Given the description of an element on the screen output the (x, y) to click on. 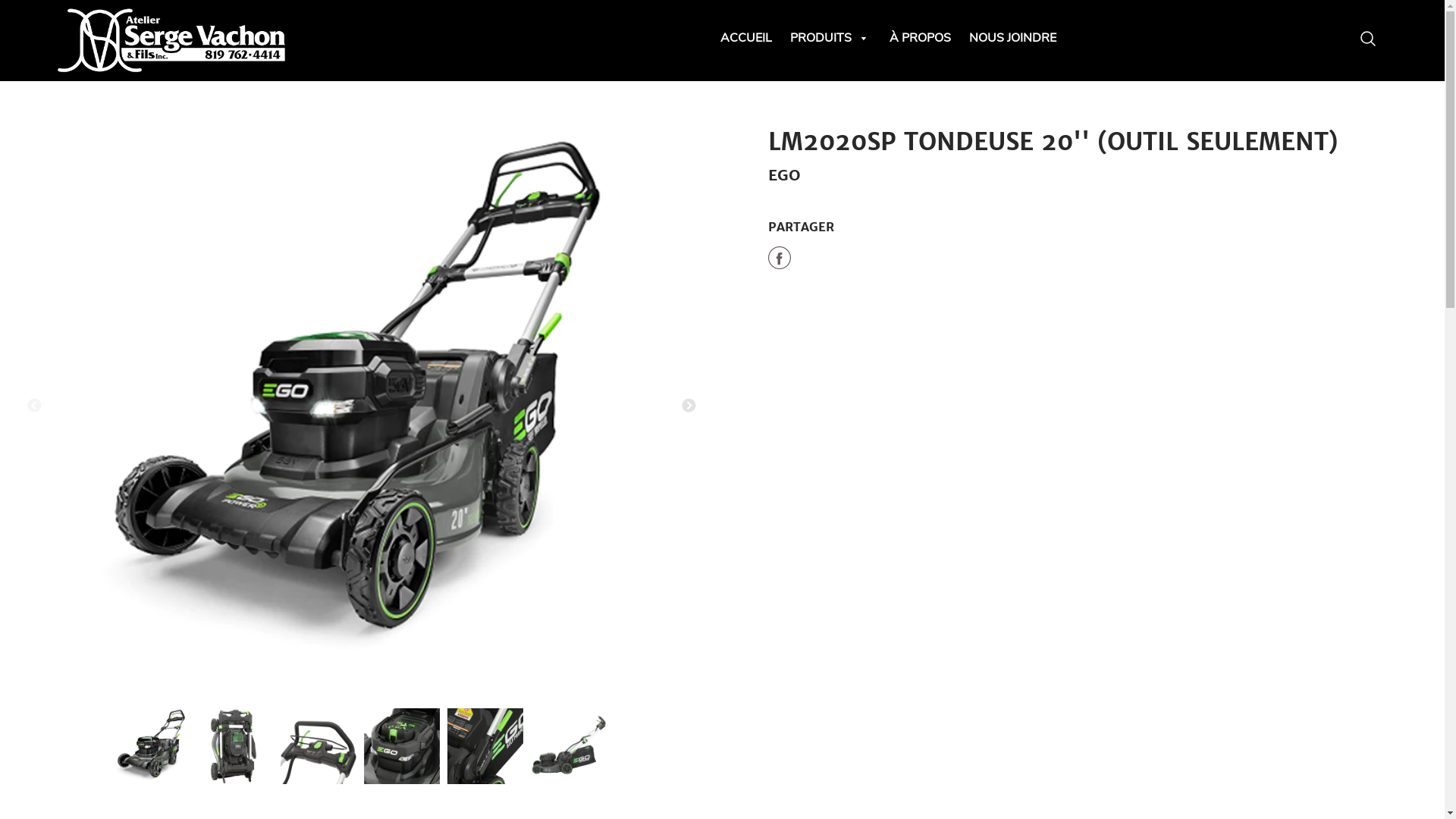
PRODUITS Element type: text (830, 38)
NEXT SLIDE Element type: text (688, 406)
NOUS JOINDRE Element type: text (1012, 38)
ACCUEIL Element type: text (745, 38)
EGO Element type: text (783, 174)
PREVIOUS SLIDE Element type: text (33, 406)
Share on Facebook Element type: text (778, 260)
